Given the description of an element on the screen output the (x, y) to click on. 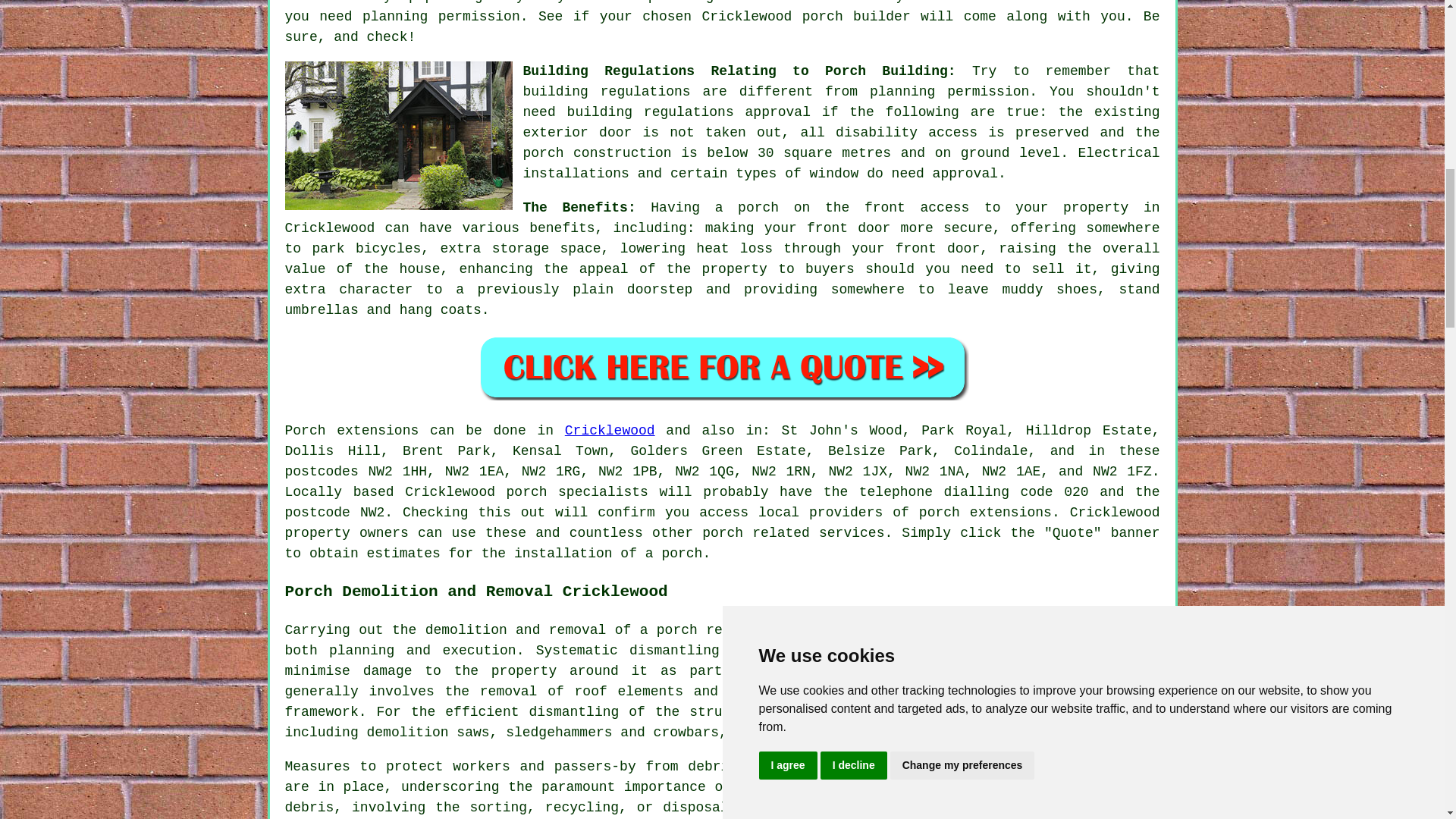
Porch (305, 430)
porch extensions (984, 512)
Porch Demolition and Removal Cricklewood (1046, 787)
porch specialists (576, 491)
Click For Porches in Cricklewood (722, 367)
porch (676, 630)
